Given the description of an element on the screen output the (x, y) to click on. 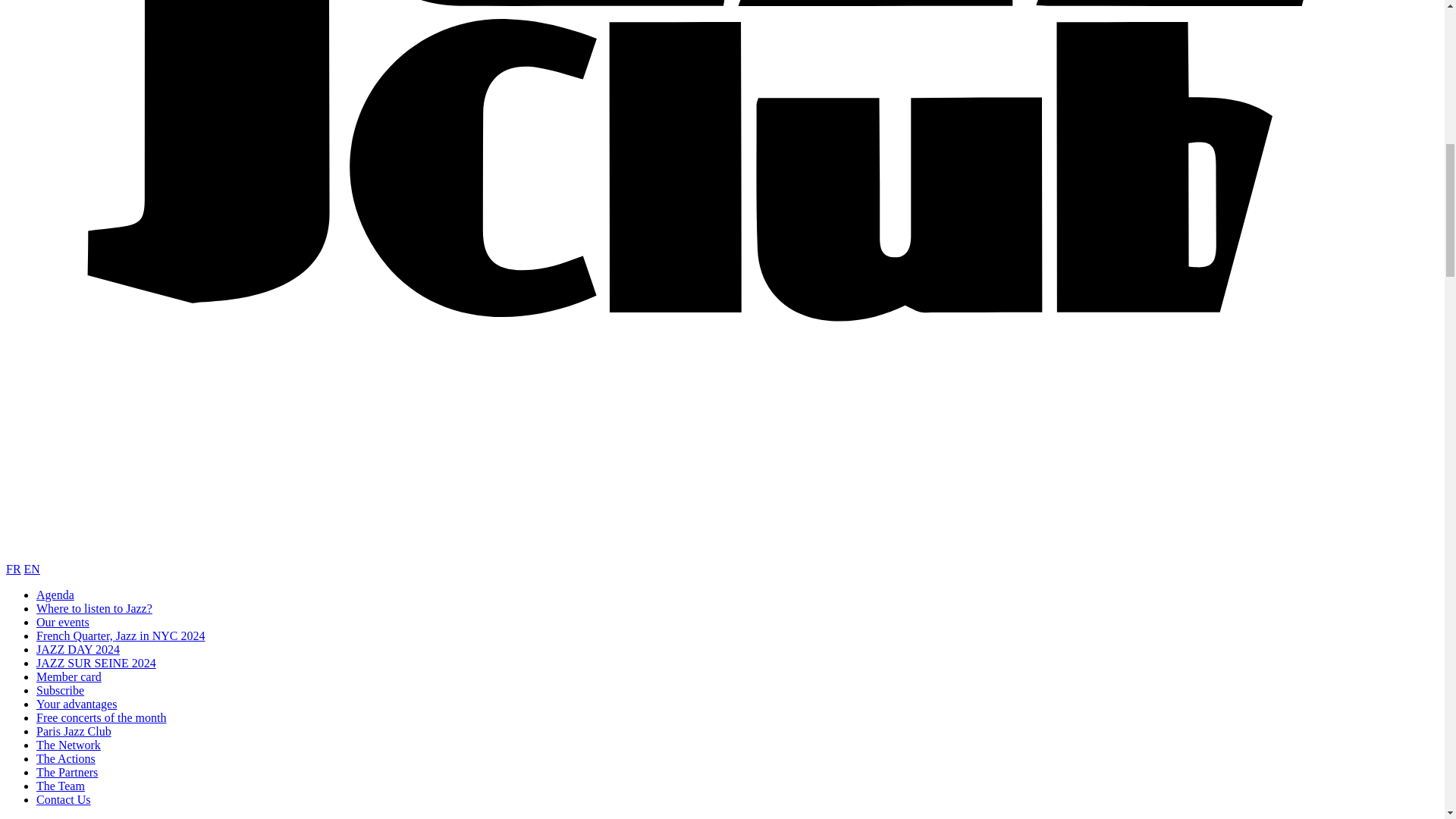
The Partners (66, 771)
Member card (68, 676)
The Actions (66, 758)
Agenda (55, 594)
FR (13, 568)
Where to listen to Jazz? (94, 608)
Free concerts of the month (101, 717)
JAZZ SUR SEINE 2024 (95, 662)
Contact Us (63, 799)
The Network (68, 744)
